Given the description of an element on the screen output the (x, y) to click on. 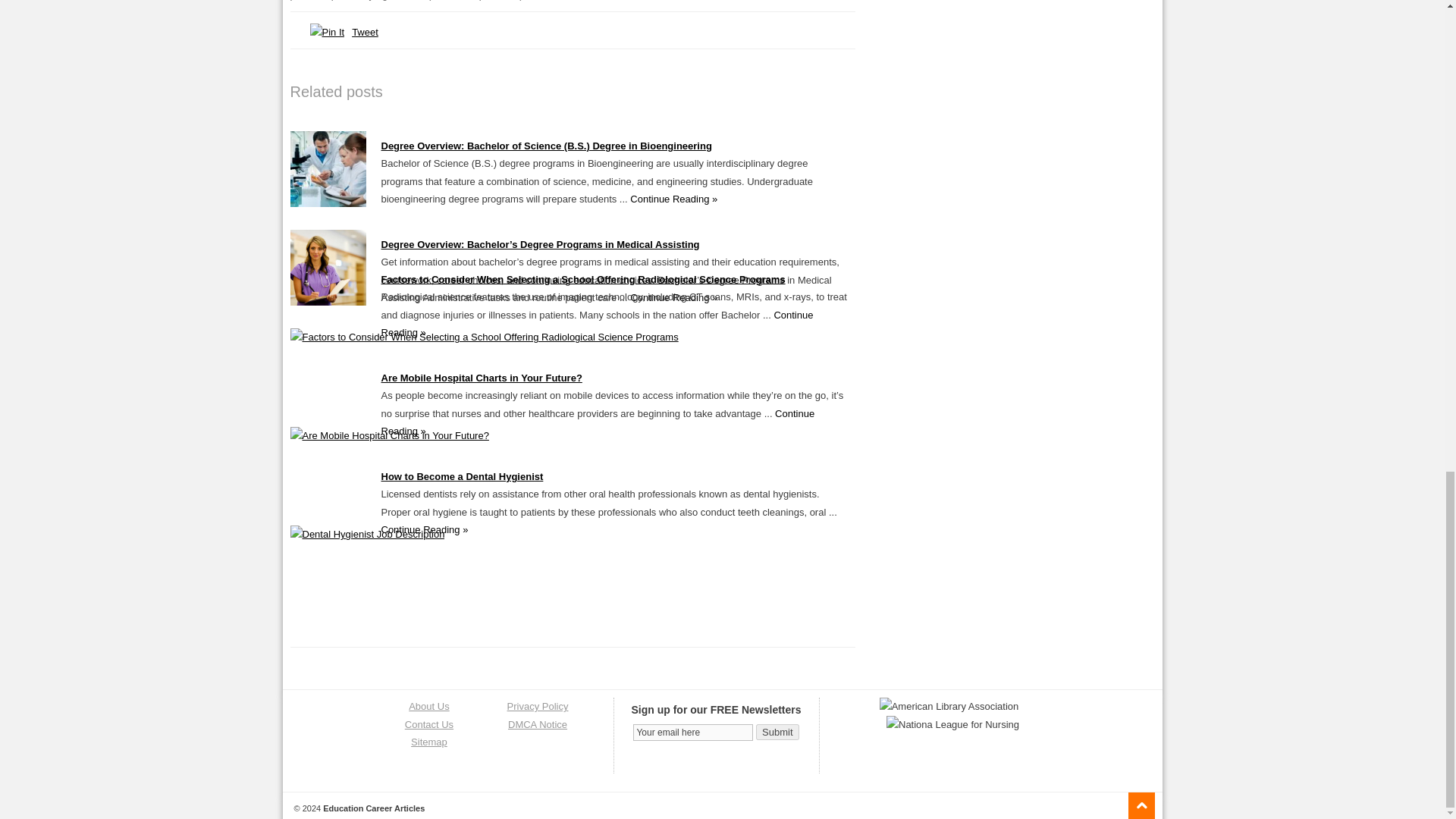
Tweet (365, 31)
Are Mobile Hospital Charts in Your Future? (388, 435)
Submit (776, 731)
How to Become a Dental Hygienist (366, 533)
Your email here (692, 732)
Pin It (325, 31)
